Given the description of an element on the screen output the (x, y) to click on. 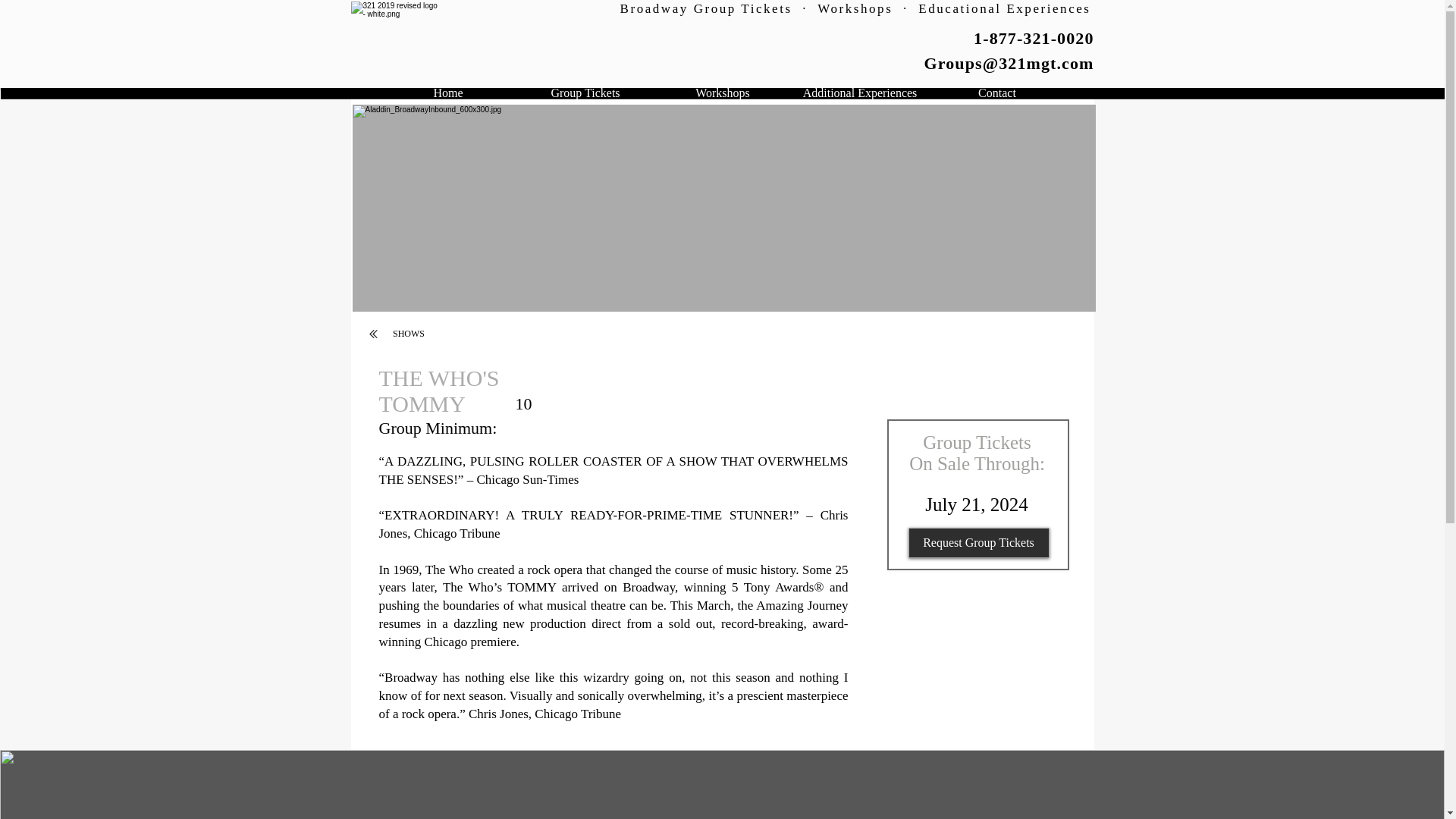
Group Tickets (584, 97)
SHOWS (409, 333)
Workshops (721, 97)
Additional Experiences (860, 97)
Contact (996, 97)
Request Group Tickets (978, 542)
Home (447, 97)
